Given the description of an element on the screen output the (x, y) to click on. 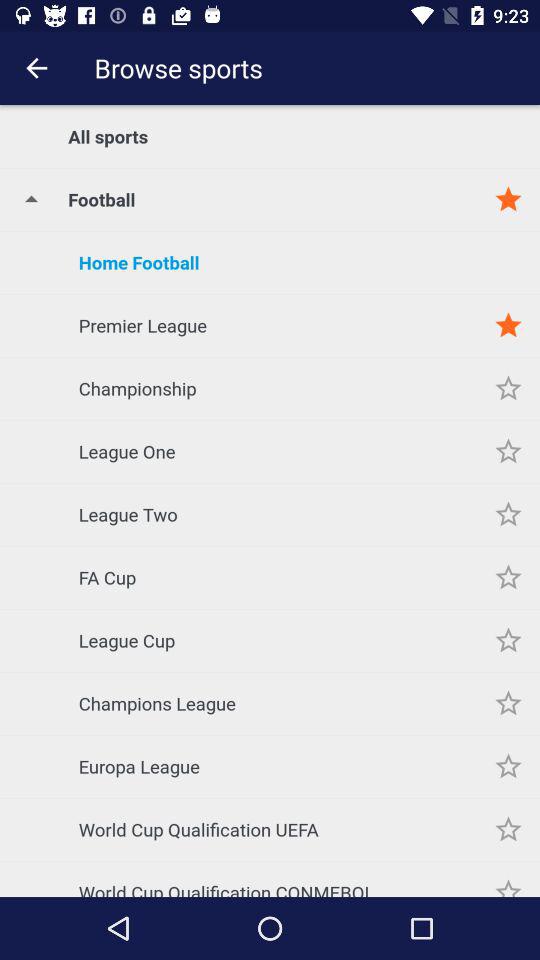
favorite this sport (508, 325)
